Given the description of an element on the screen output the (x, y) to click on. 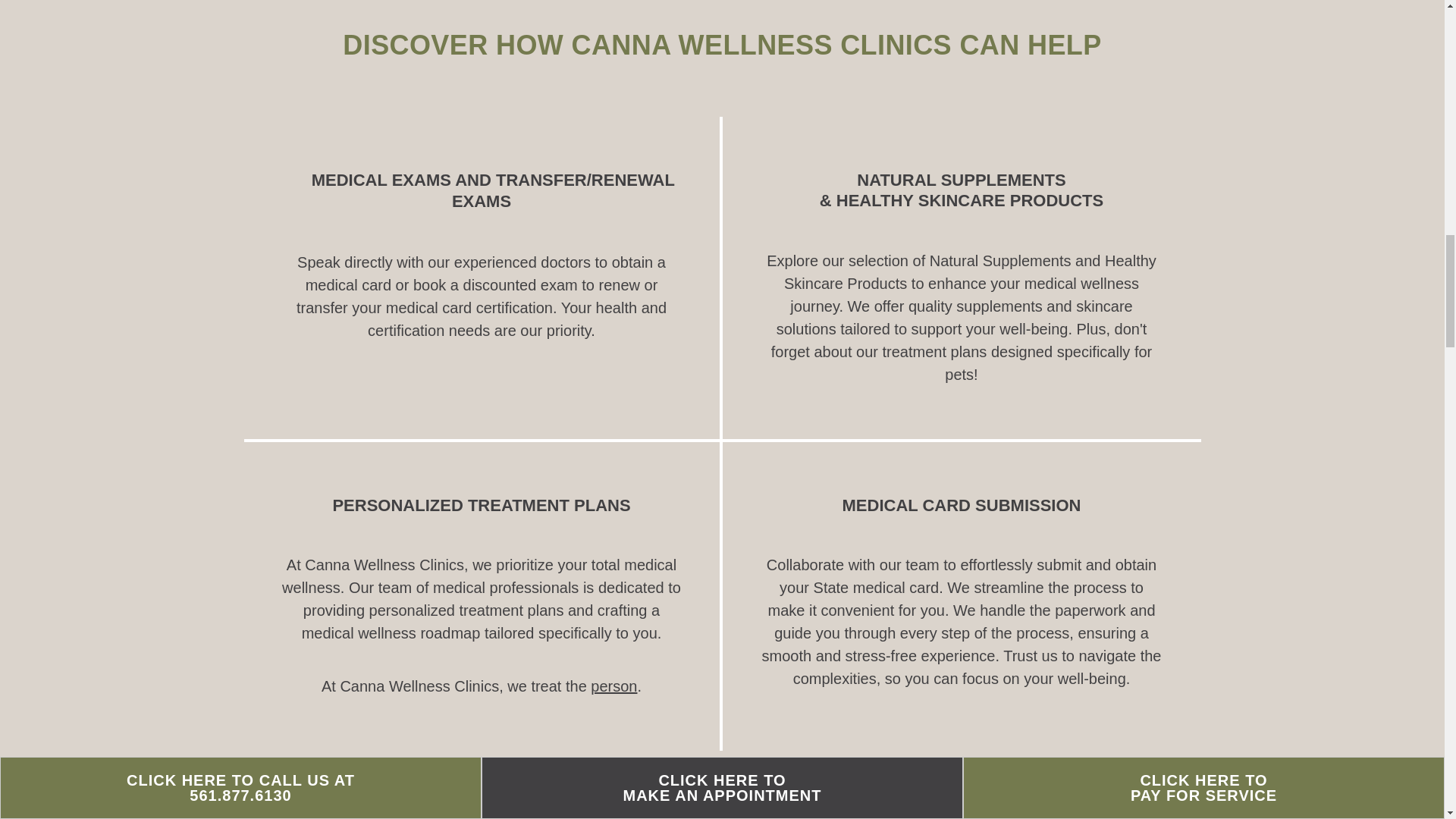
Medical Card Submission (962, 505)
MEDICAL CARD SUBMISSION (962, 505)
Personalized treatment plans (480, 505)
LEARN MORE (721, 811)
PERSONALIZED TREATMENT PLANS (480, 505)
